Given the description of an element on the screen output the (x, y) to click on. 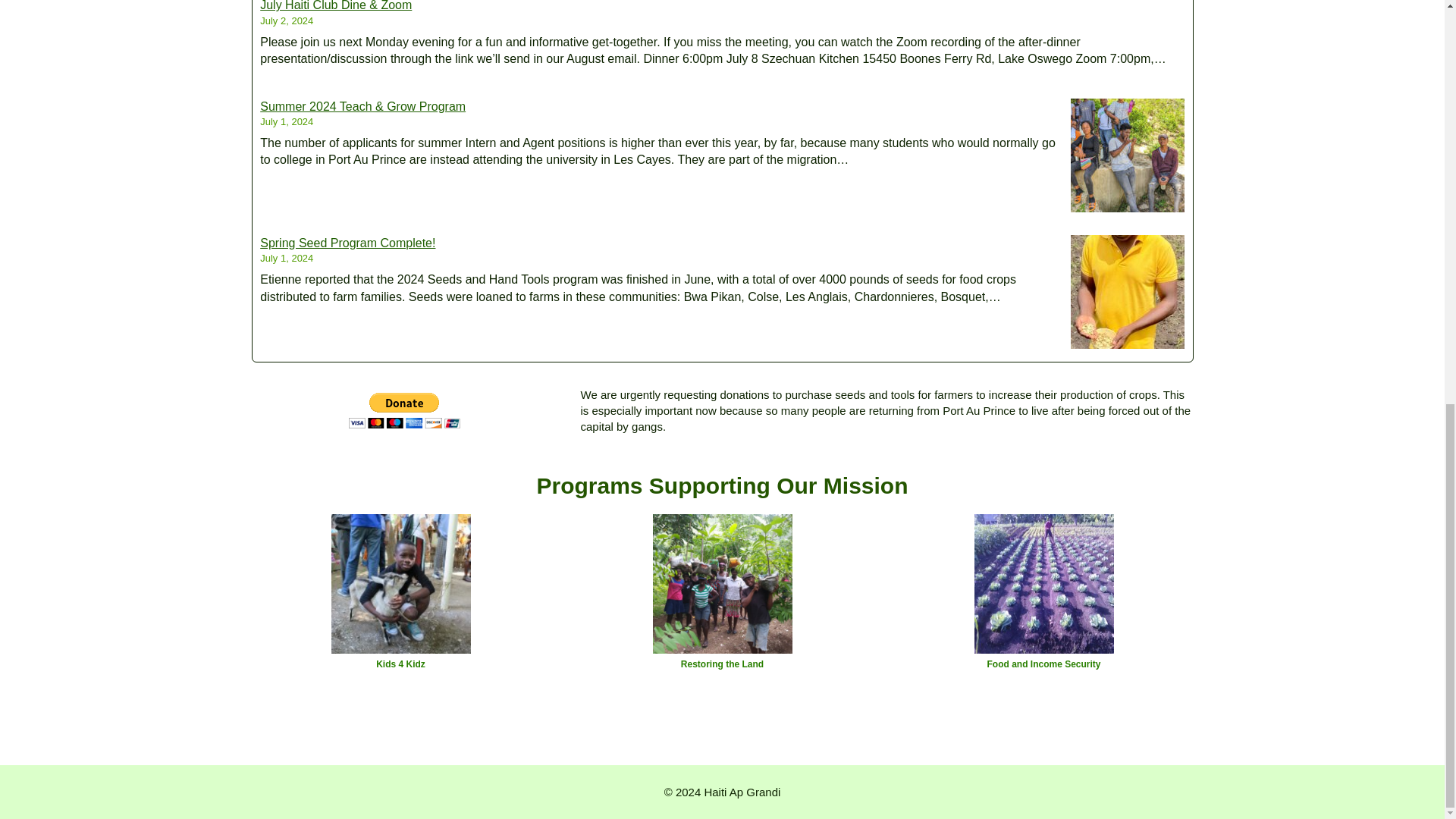
PayPal - The safer, easier way to pay online! (404, 410)
Spring Seed Program Complete! (347, 242)
